Given the description of an element on the screen output the (x, y) to click on. 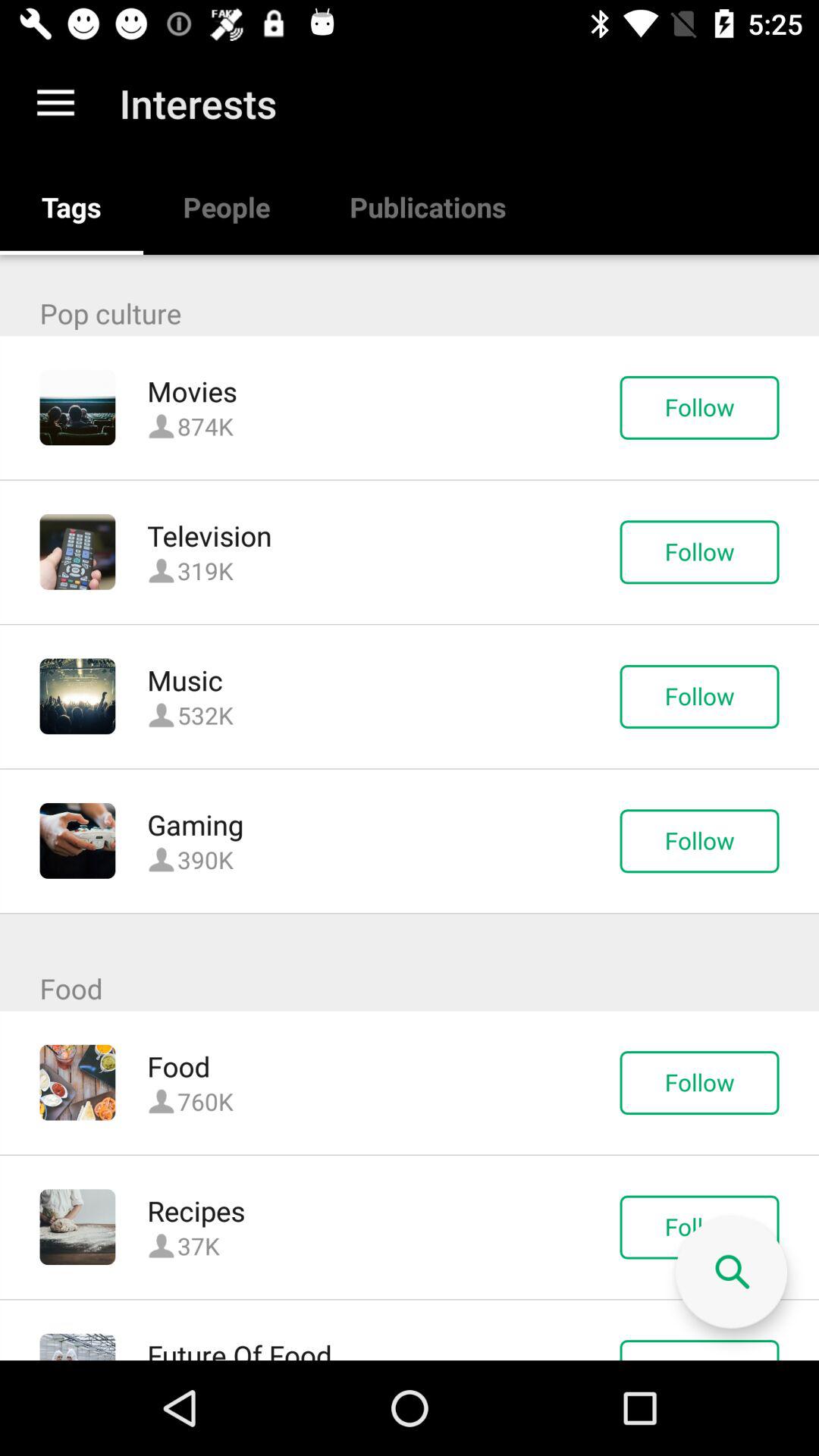
search (731, 1272)
